Given the description of an element on the screen output the (x, y) to click on. 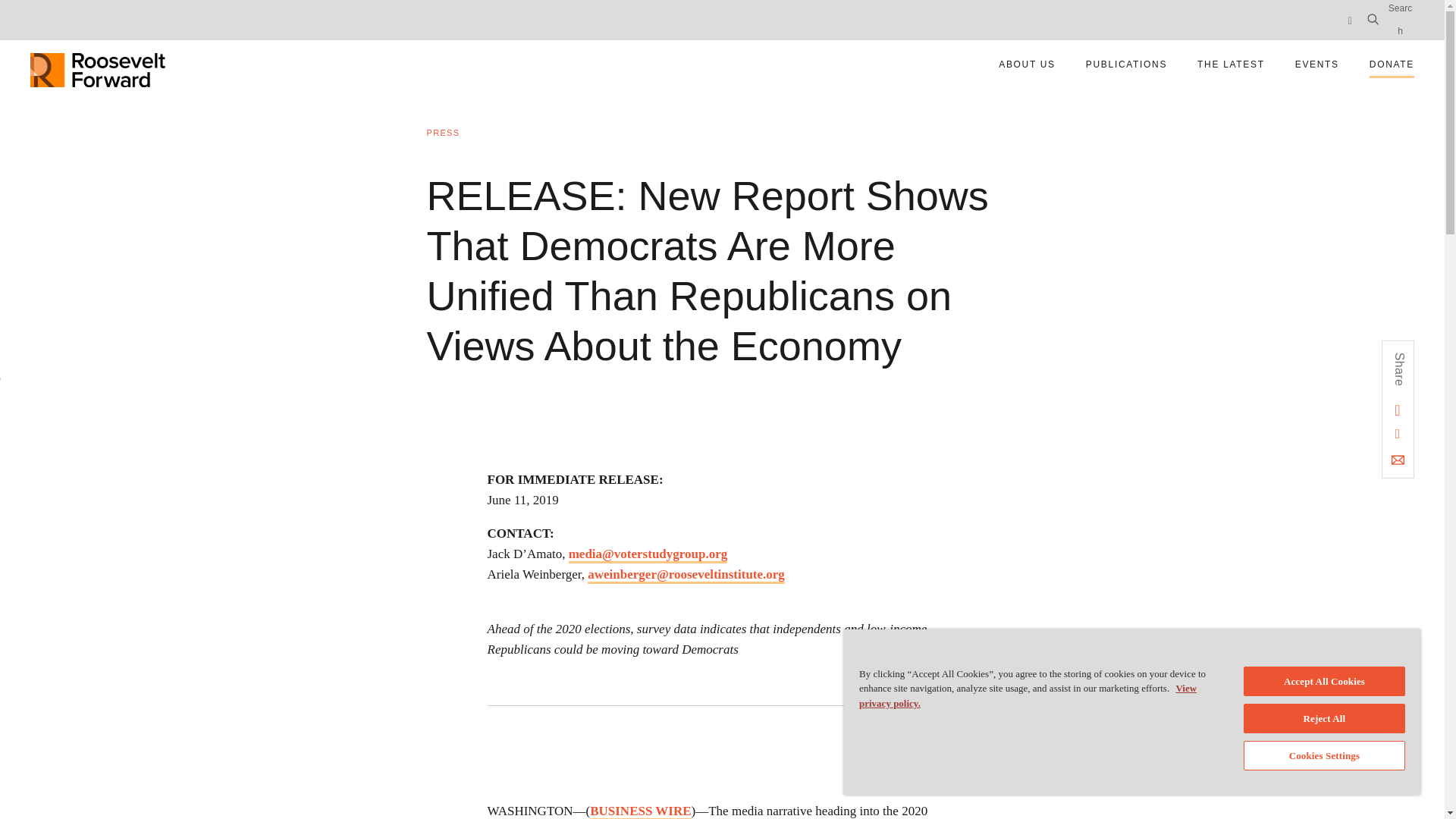
BUSINESS WIRE (639, 811)
EVENTS (1316, 64)
THE LATEST (1230, 64)
Share this page on Twitter (1387, 64)
PRESS (1396, 433)
ABOUT US (97, 64)
PUBLICATIONS (443, 132)
